Given the description of an element on the screen output the (x, y) to click on. 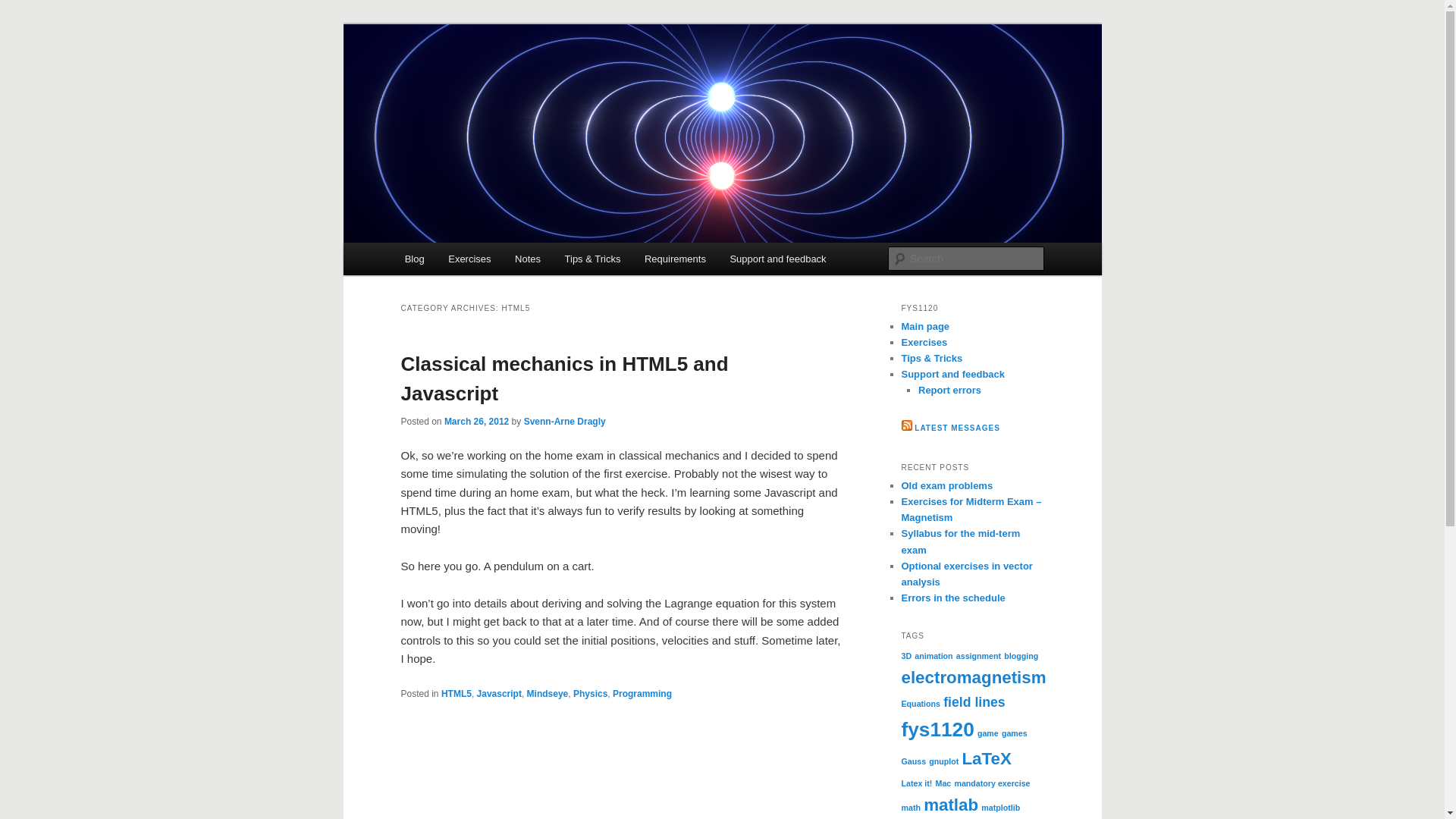
Optional exercises in vector analysis (966, 574)
Exercises (924, 342)
Support and feedback (777, 258)
Report errors (949, 389)
Svenn-Arne Dragly (564, 420)
fys1120 (937, 729)
Javascript (499, 693)
electromagnetism (973, 677)
animation (933, 655)
Elektromagnetisme (505, 78)
LATEST MESSAGES (957, 428)
Requirements (674, 258)
Search (24, 8)
Syllabus for the mid-term exam (960, 541)
